Given the description of an element on the screen output the (x, y) to click on. 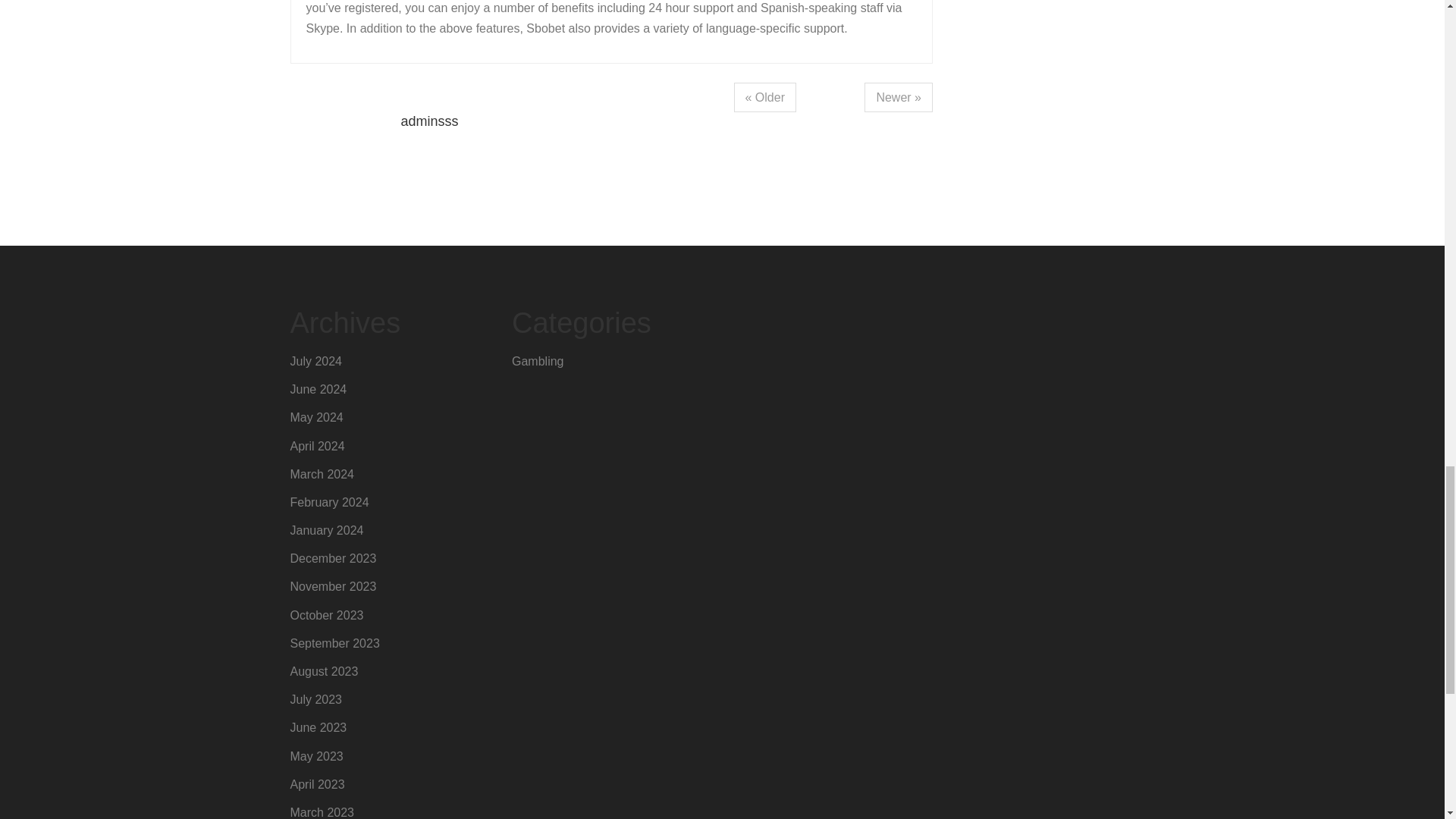
April 2023 (316, 784)
October 2023 (325, 615)
August 2023 (323, 671)
June 2023 (317, 727)
February 2024 (328, 502)
March 2024 (321, 473)
July 2023 (315, 698)
June 2024 (317, 389)
May 2023 (315, 756)
March 2023 (321, 812)
adminsss (429, 120)
January 2024 (325, 530)
December 2023 (332, 558)
September 2023 (333, 643)
November 2023 (332, 585)
